Given the description of an element on the screen output the (x, y) to click on. 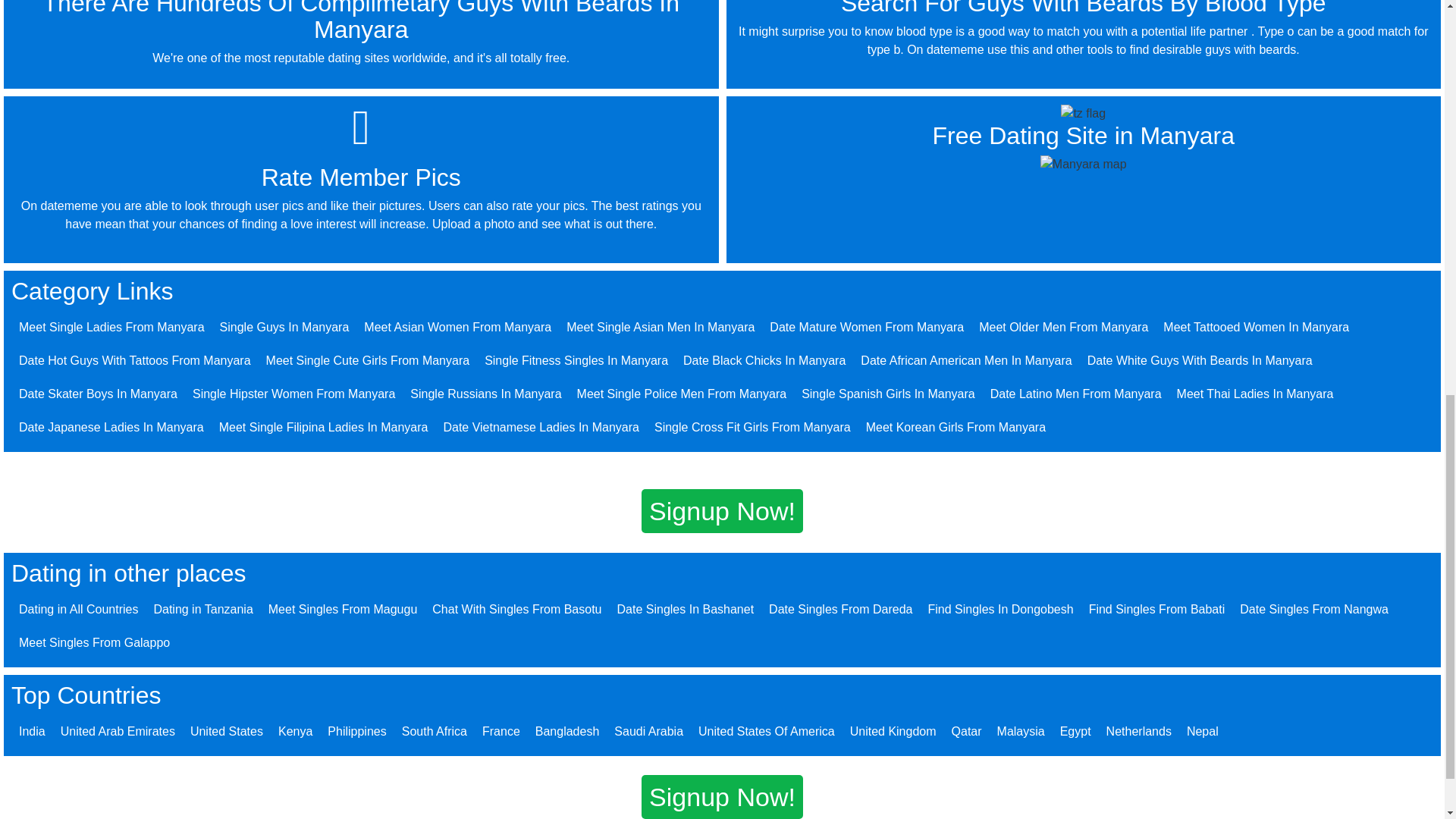
Meet Asian Women From Manyara (457, 327)
Meet Single Asian Men In Manyara (660, 327)
Meet Single Ladies From Manyara (111, 327)
Single Guys In Manyara (284, 327)
